Given the description of an element on the screen output the (x, y) to click on. 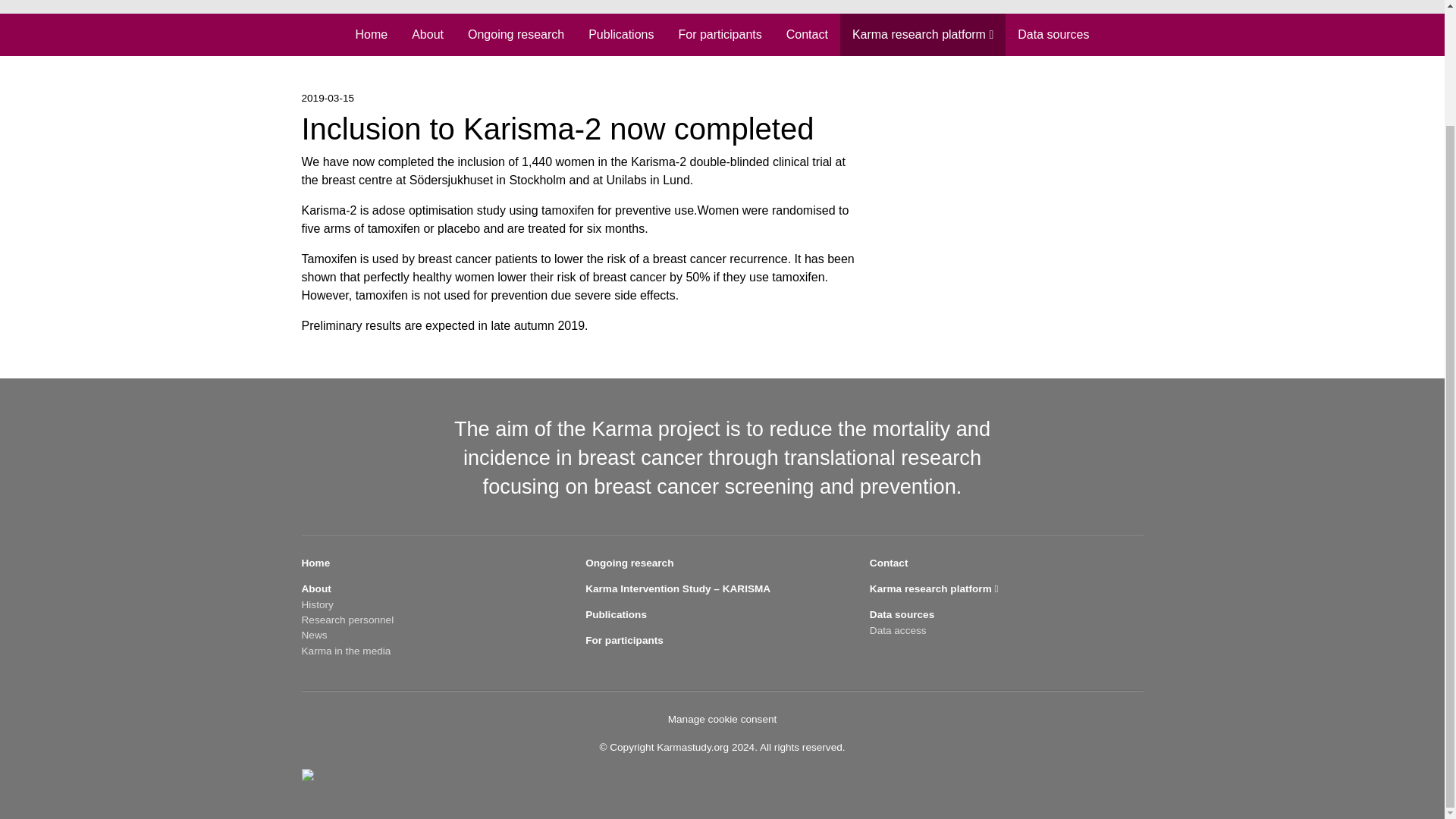
Publications (615, 614)
For participants (719, 34)
History (317, 604)
Ongoing research (628, 562)
Data access (897, 630)
Data sources (1053, 34)
News (314, 634)
About (426, 34)
Home (370, 34)
Data sources (1053, 34)
